Given the description of an element on the screen output the (x, y) to click on. 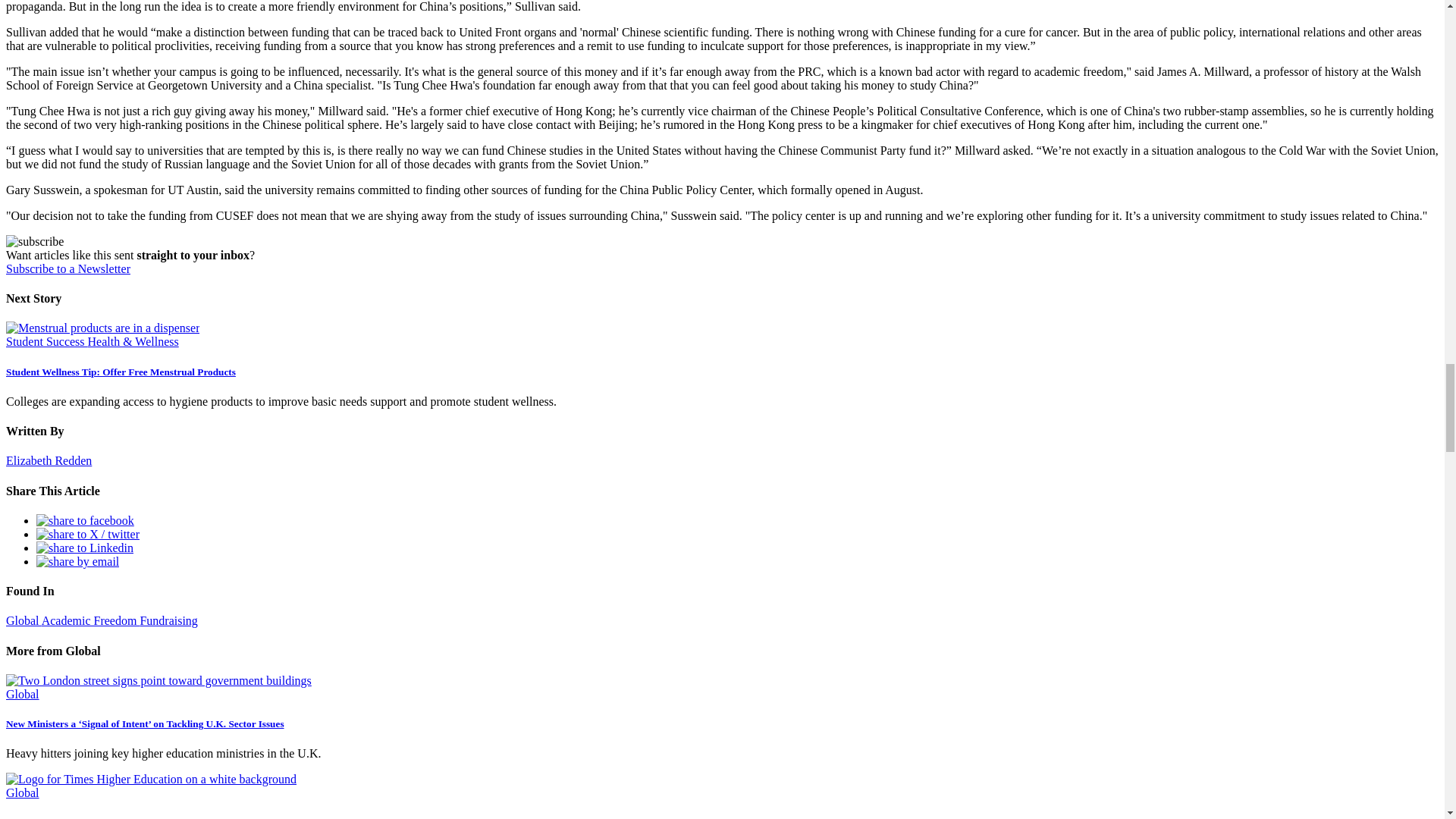
share to facebook (84, 520)
